Given the description of an element on the screen output the (x, y) to click on. 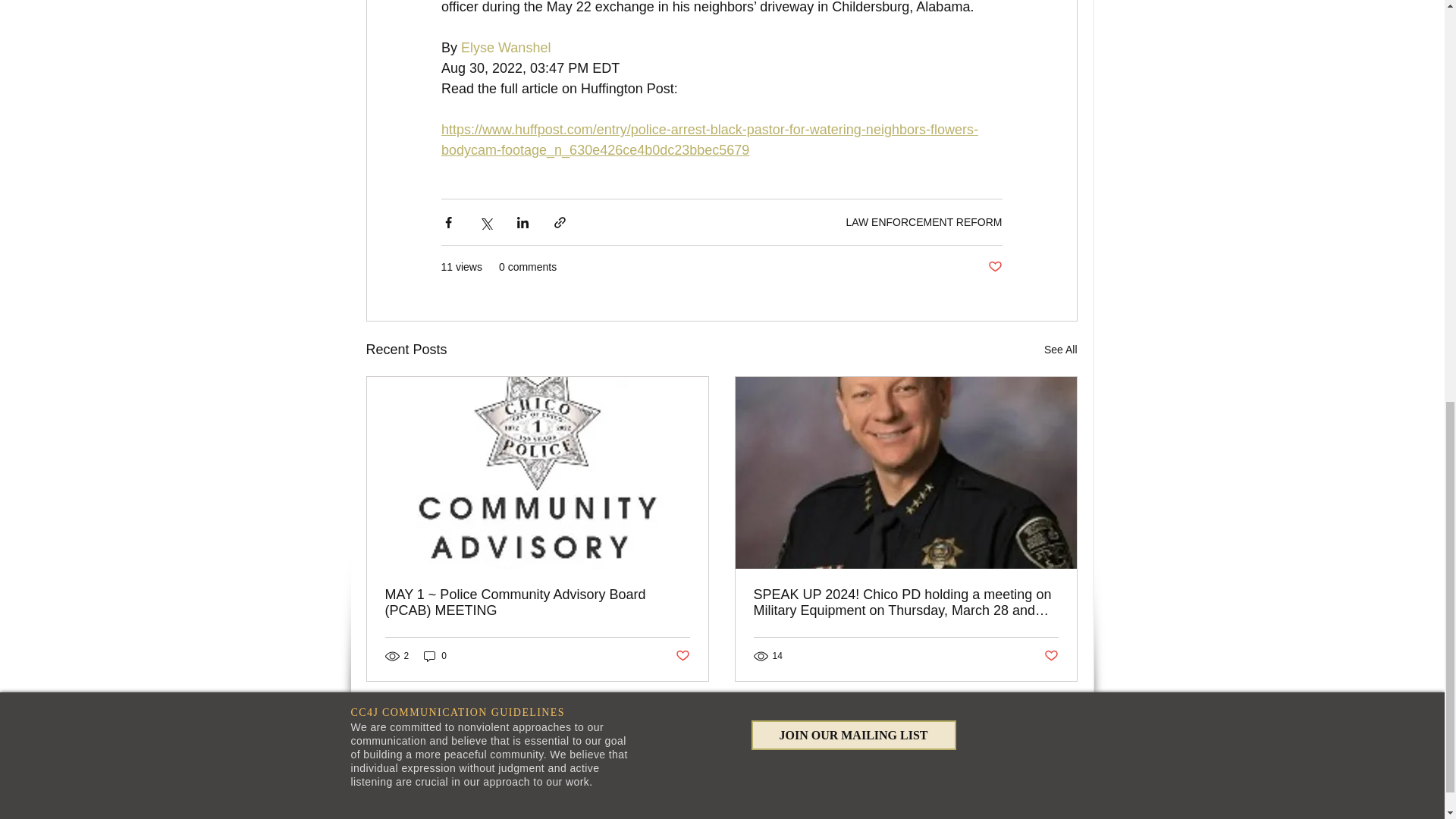
Elyse Wanshel (505, 47)
